Given the description of an element on the screen output the (x, y) to click on. 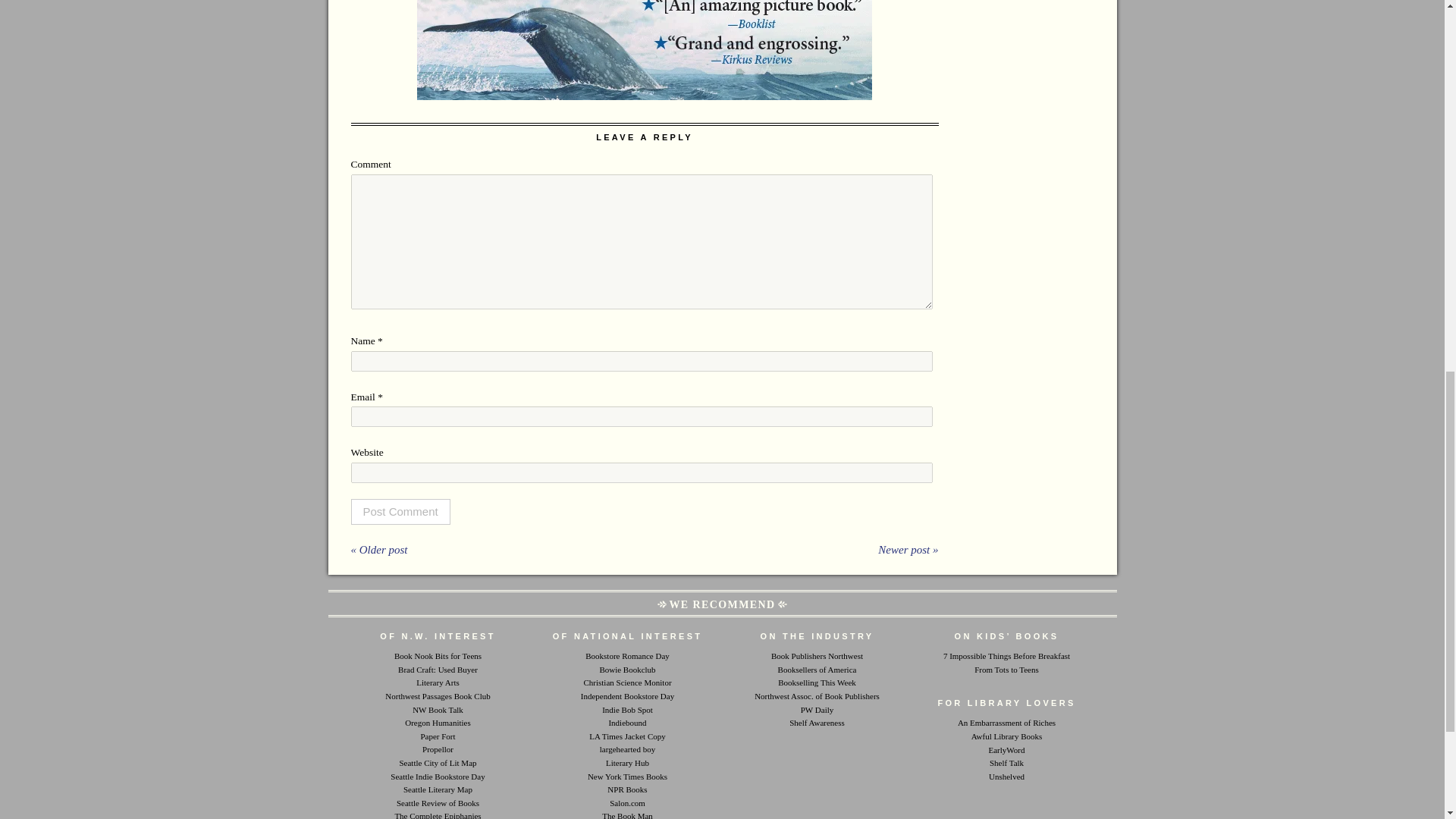
The Brian Doyle collection at The American Scholar (437, 814)
Support and celebrate your local indie! (627, 695)
Aria is a teen book blogger from Eugene, OR (437, 655)
Book recs and author interviews from the beautiful Northwest (437, 709)
Post Comment (399, 511)
Post Comment (399, 511)
Book and Bible Repair (627, 814)
